Given the description of an element on the screen output the (x, y) to click on. 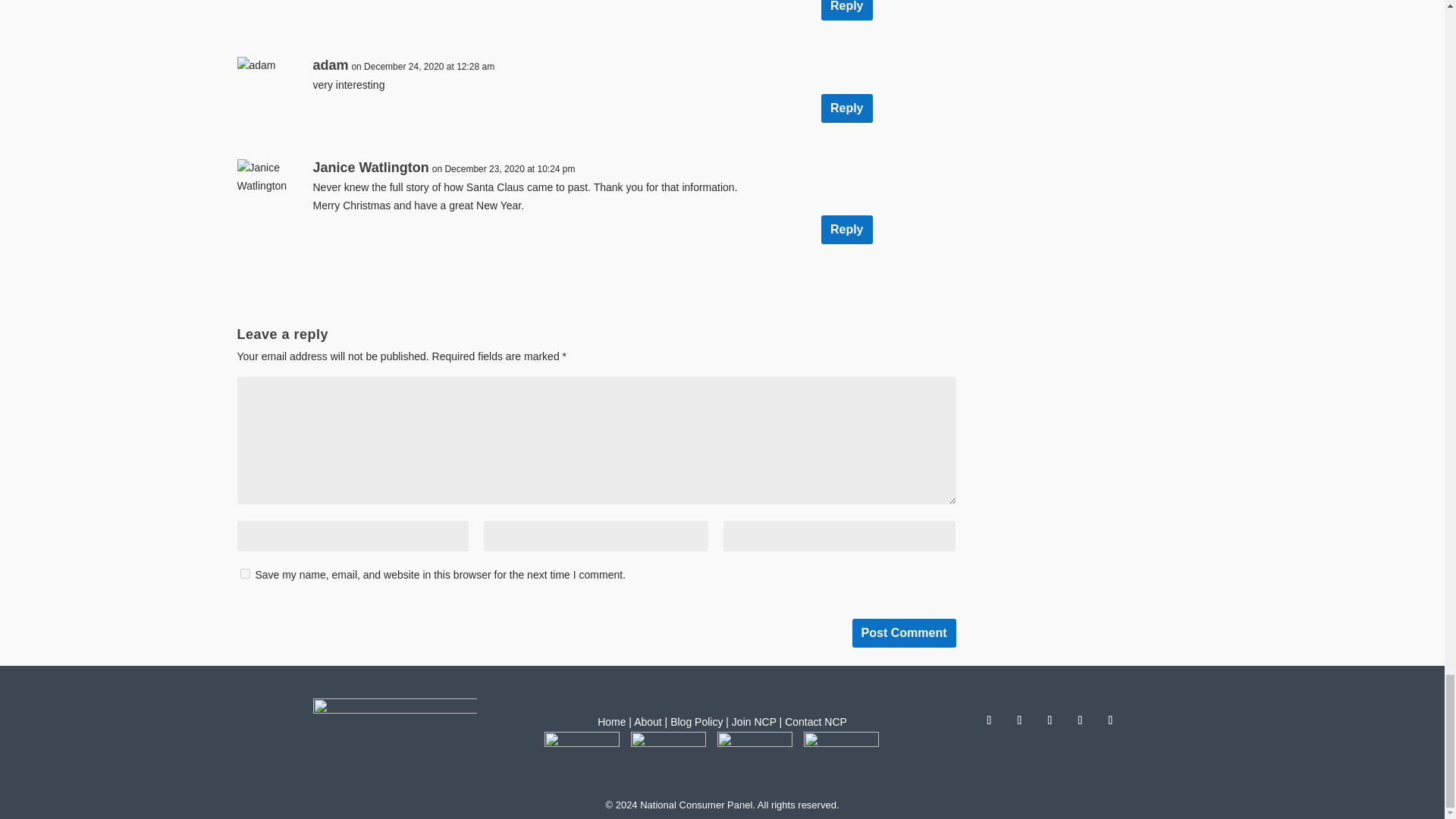
Follow on Facebook (988, 720)
yes (244, 573)
Follow on X (1018, 720)
Post Comment (903, 633)
